Given the description of an element on the screen output the (x, y) to click on. 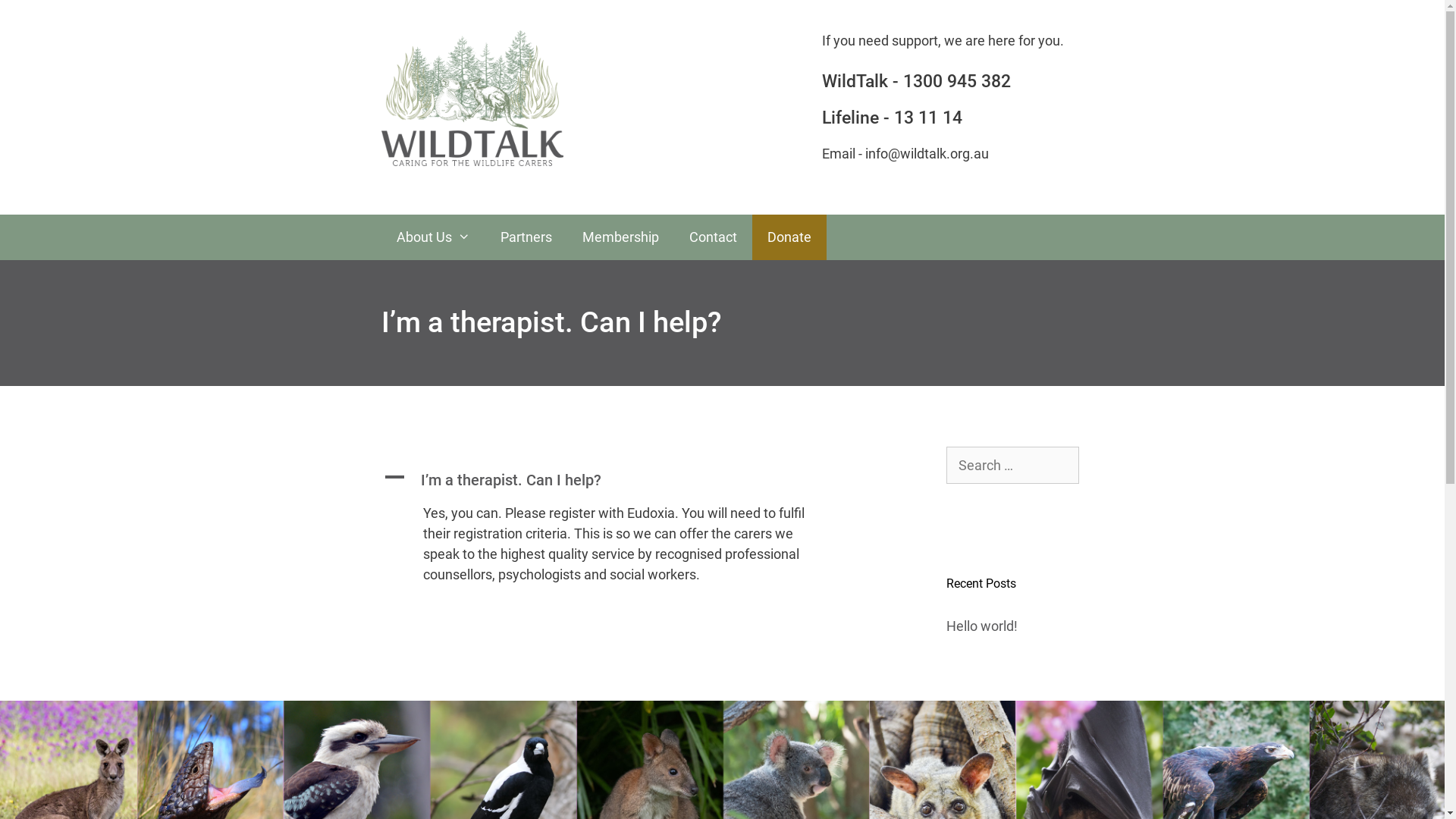
Partners Element type: text (526, 237)
Hello world! Element type: text (981, 625)
Contact Element type: text (713, 237)
Donate Element type: text (789, 237)
Search for: Element type: hover (1012, 464)
Membership Element type: text (620, 237)
1300 945 382 Element type: text (956, 81)
About Us Element type: text (432, 237)
13 11 14 Element type: text (927, 117)
info@wildtalk.org.au Element type: text (926, 153)
Search Element type: text (37, 18)
